Given the description of an element on the screen output the (x, y) to click on. 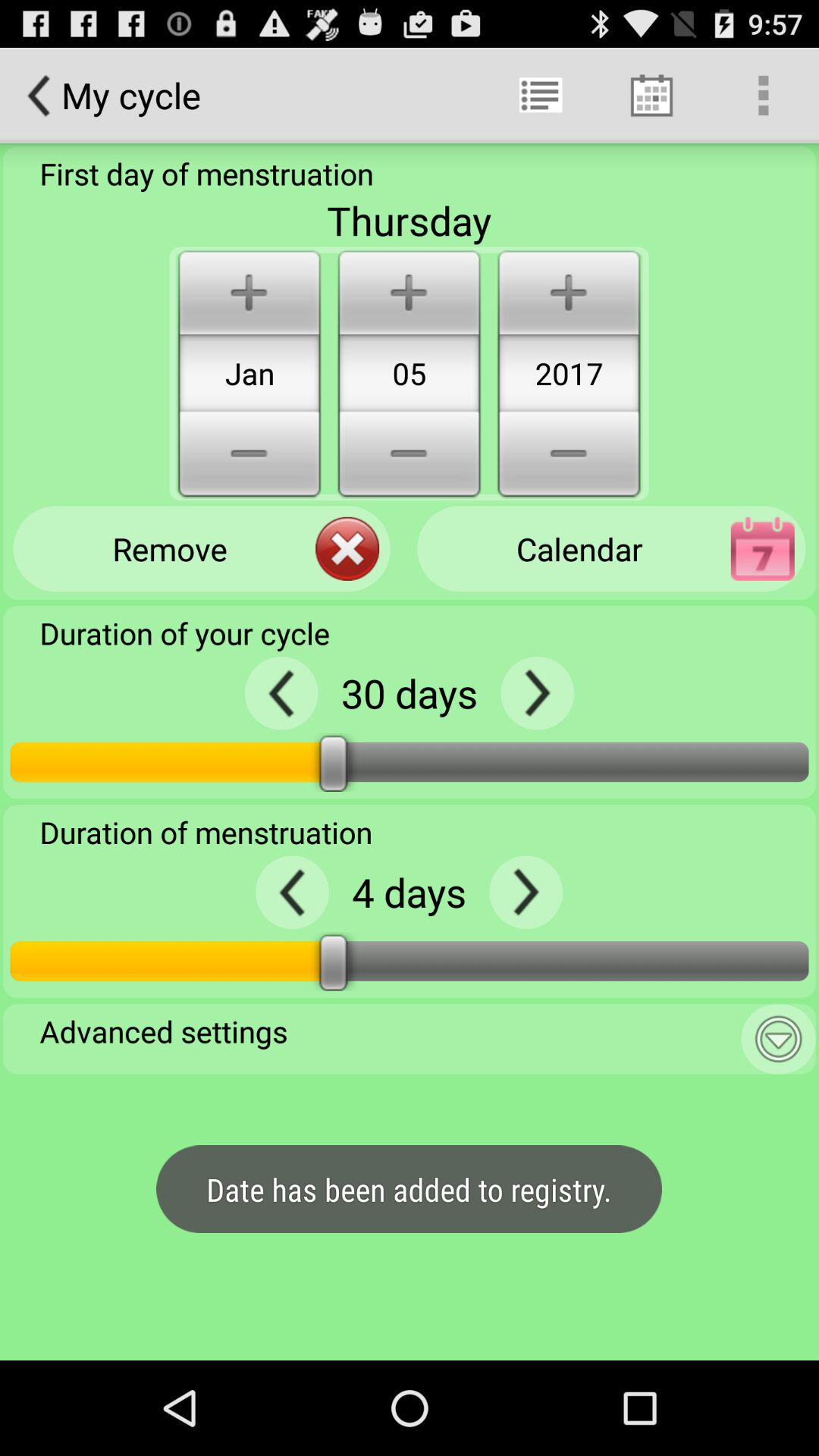
back icon (292, 892)
